Given the description of an element on the screen output the (x, y) to click on. 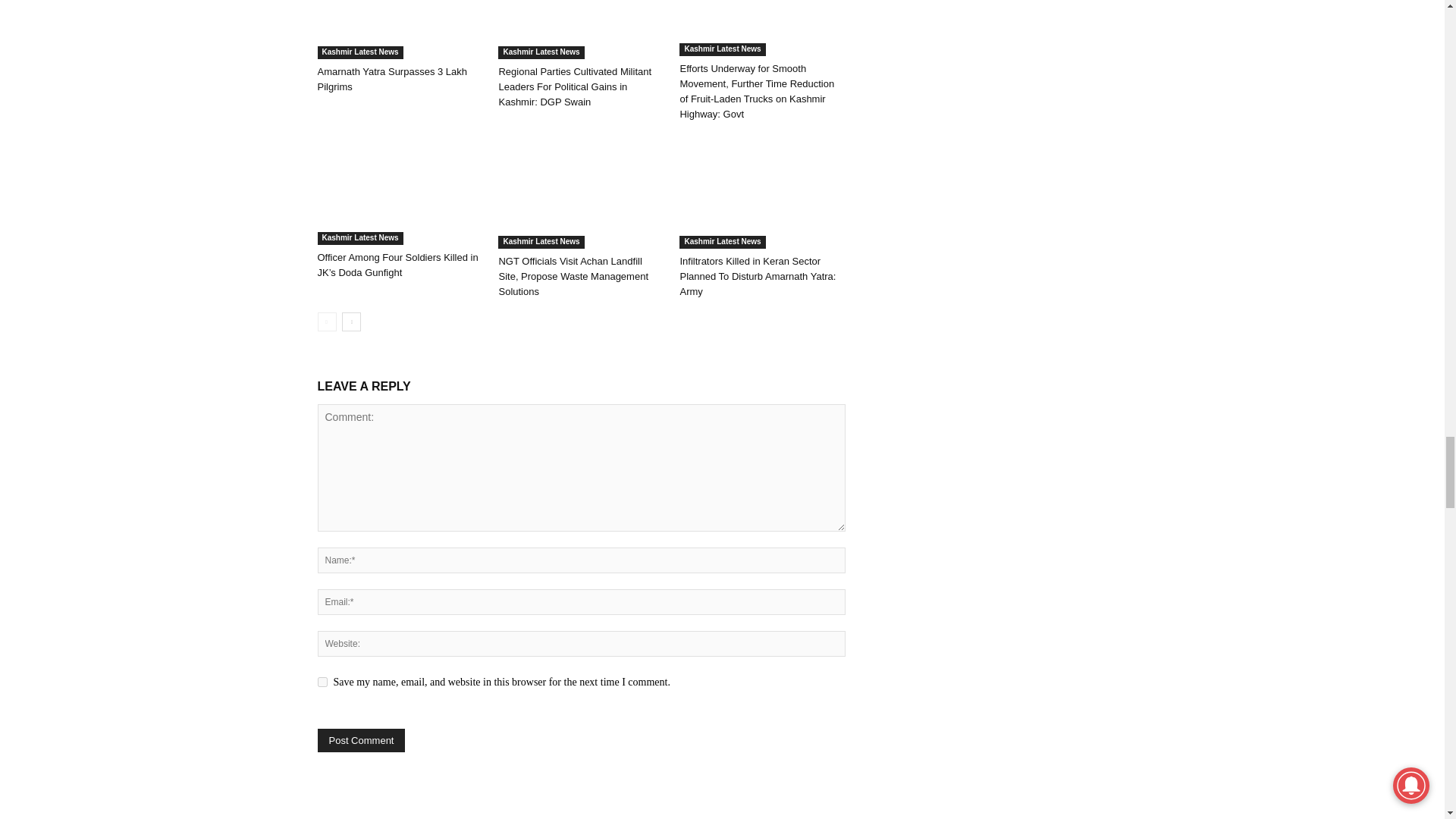
Post Comment (360, 740)
yes (321, 682)
